Given the description of an element on the screen output the (x, y) to click on. 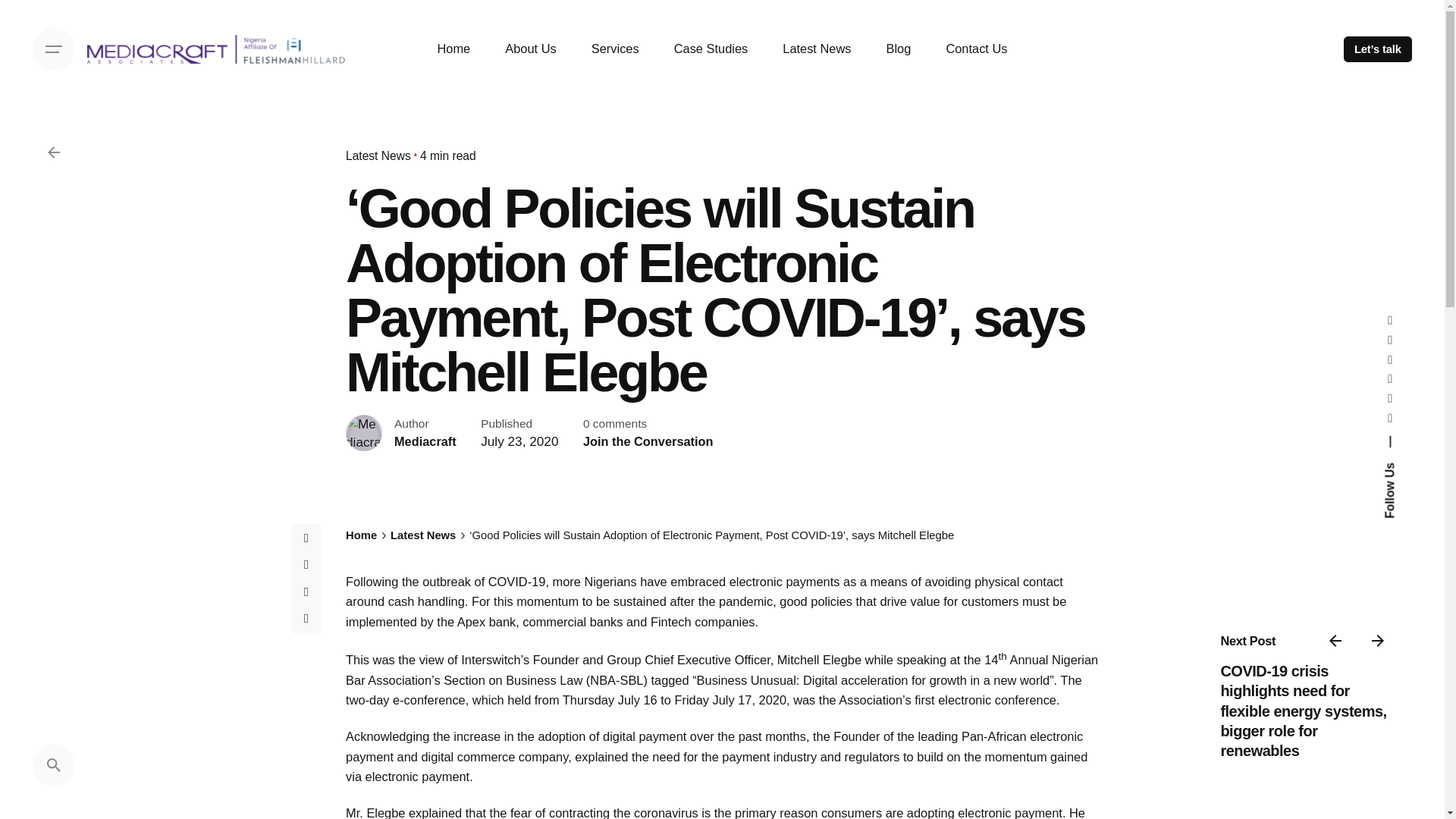
Blog (898, 49)
Contact Us (976, 49)
Services (614, 49)
Latest News (816, 49)
Home (453, 49)
Case Studies (710, 49)
About Us (530, 49)
